Given the description of an element on the screen output the (x, y) to click on. 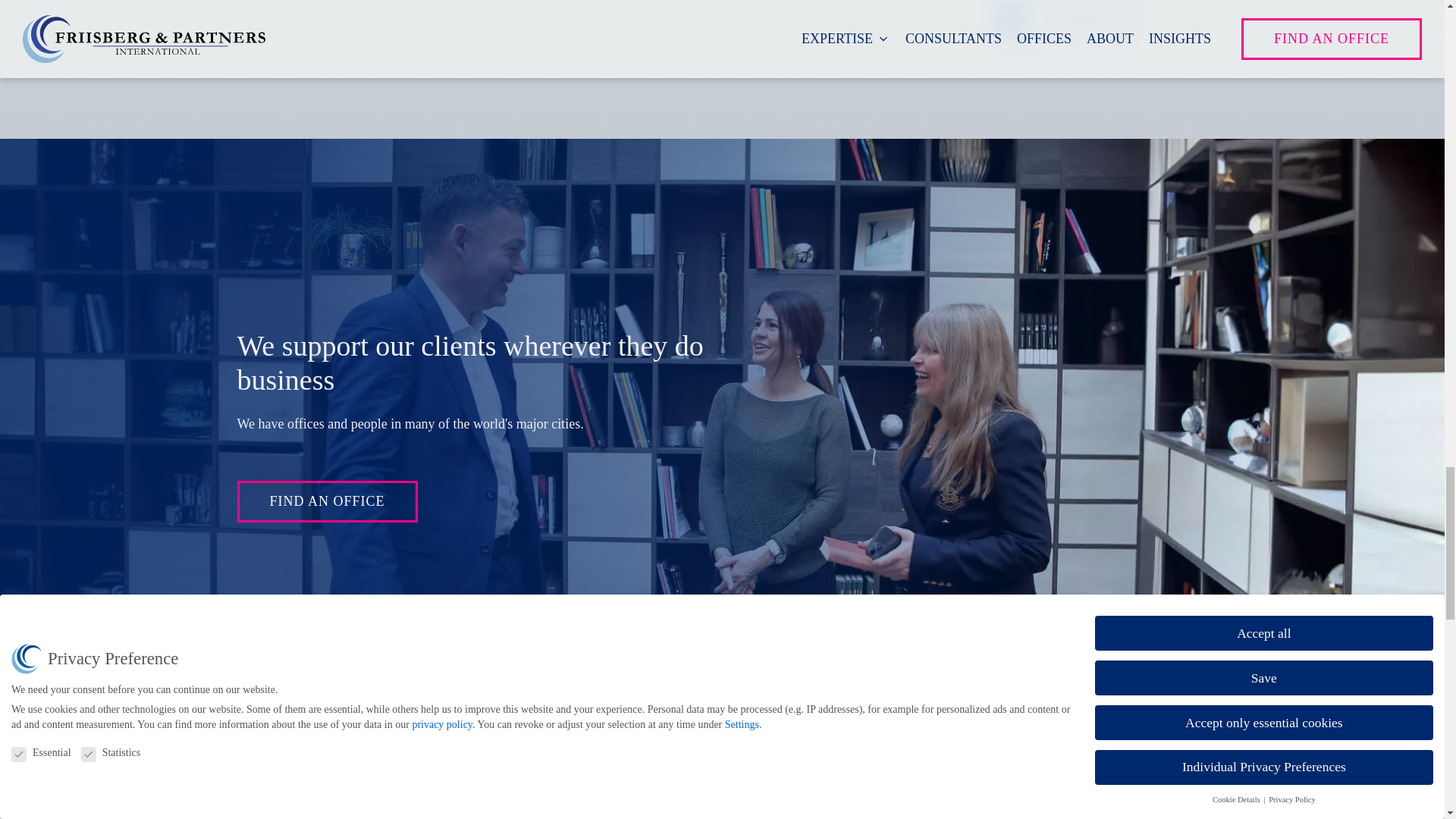
FIND AN OFFICE (325, 501)
FRIISBERG (1062, 20)
